Given the description of an element on the screen output the (x, y) to click on. 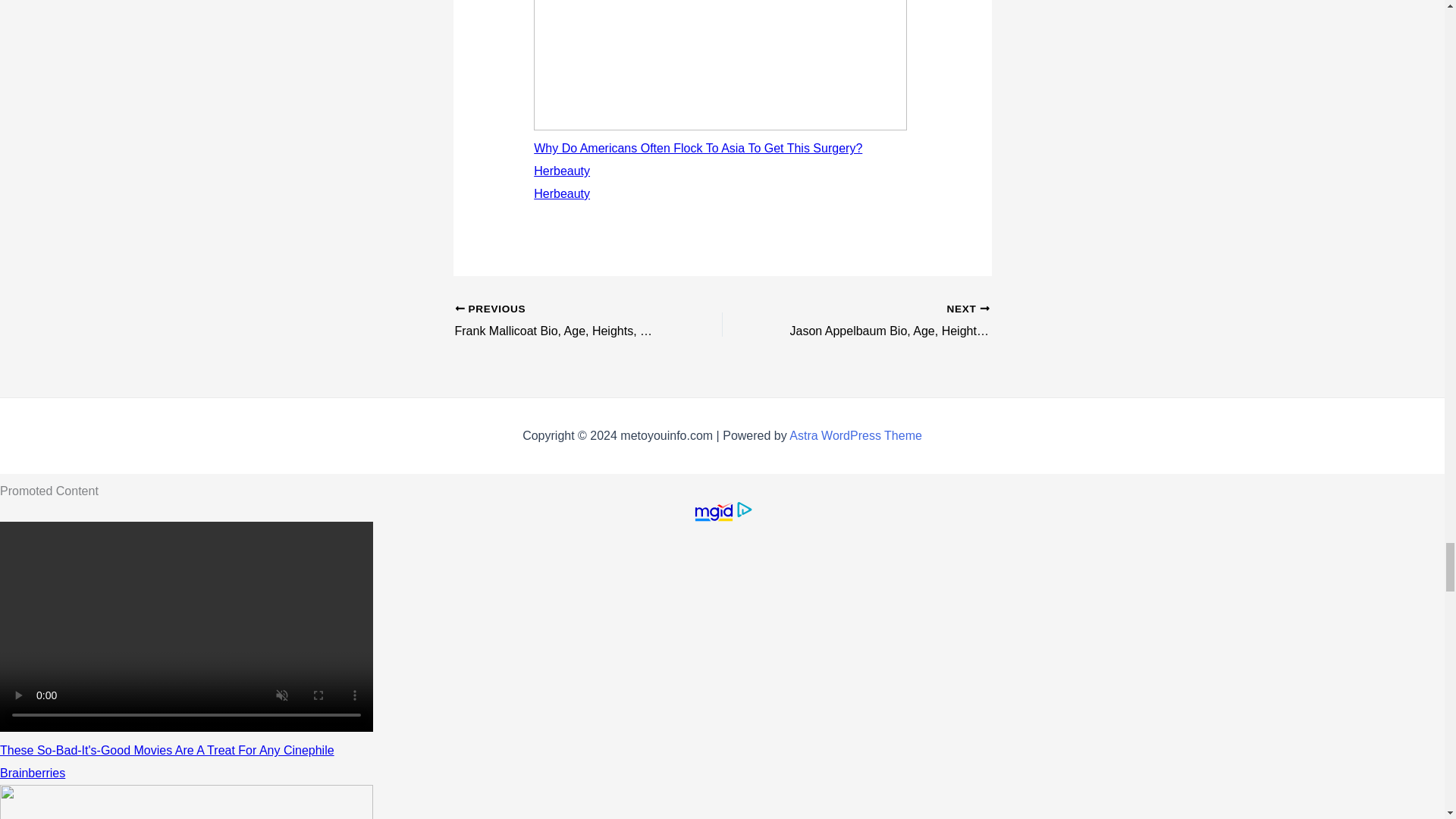
Astra WordPress Theme (855, 435)
